Given the description of an element on the screen output the (x, y) to click on. 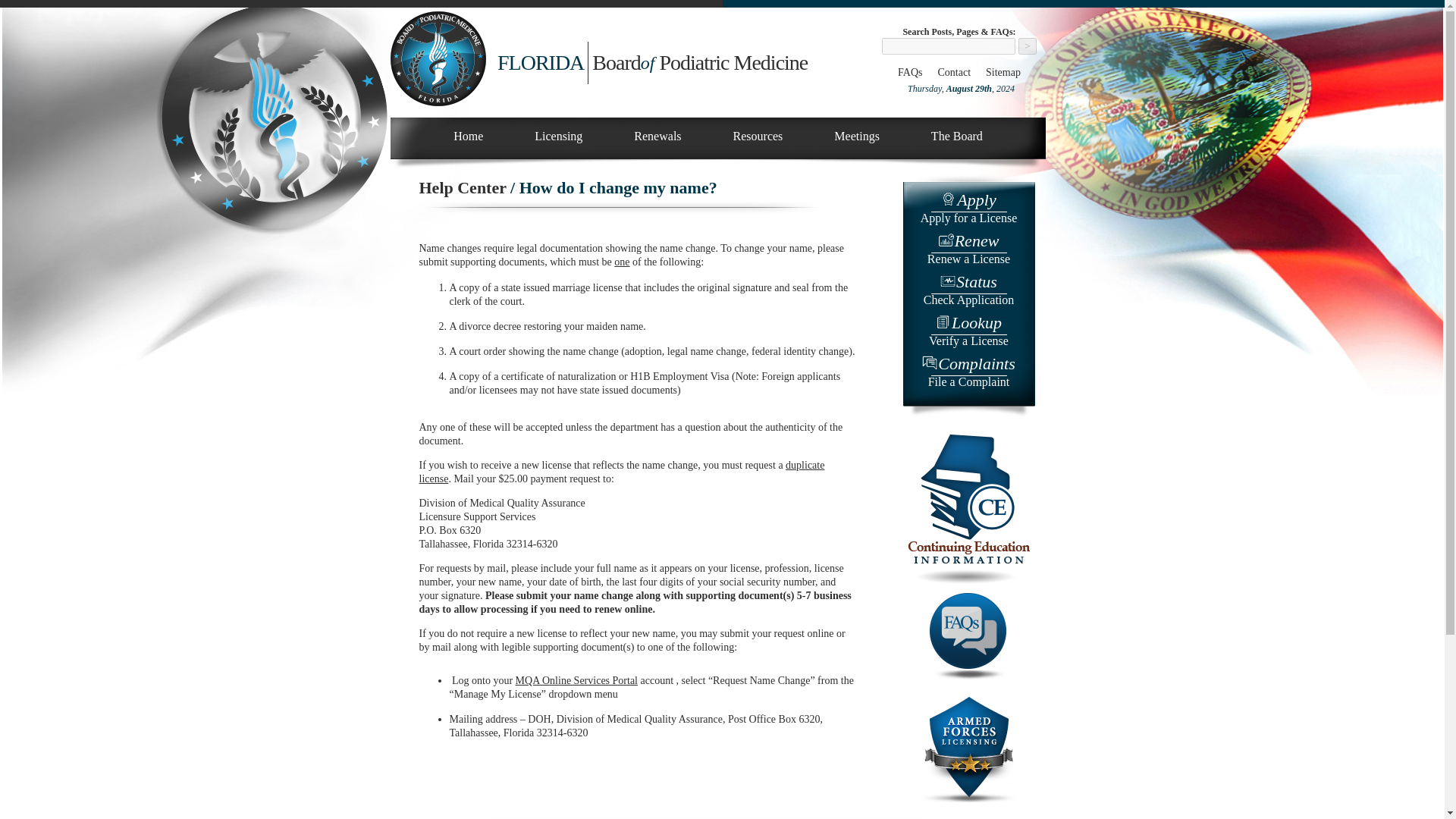
Resources (757, 135)
Verify A License (967, 332)
Divider (620, 206)
Renewal Information (657, 135)
MQA Online Services Portal (576, 680)
Renewals (657, 135)
duplicate license (967, 250)
Meeting Information (621, 471)
Sitemap (856, 135)
